Given the description of an element on the screen output the (x, y) to click on. 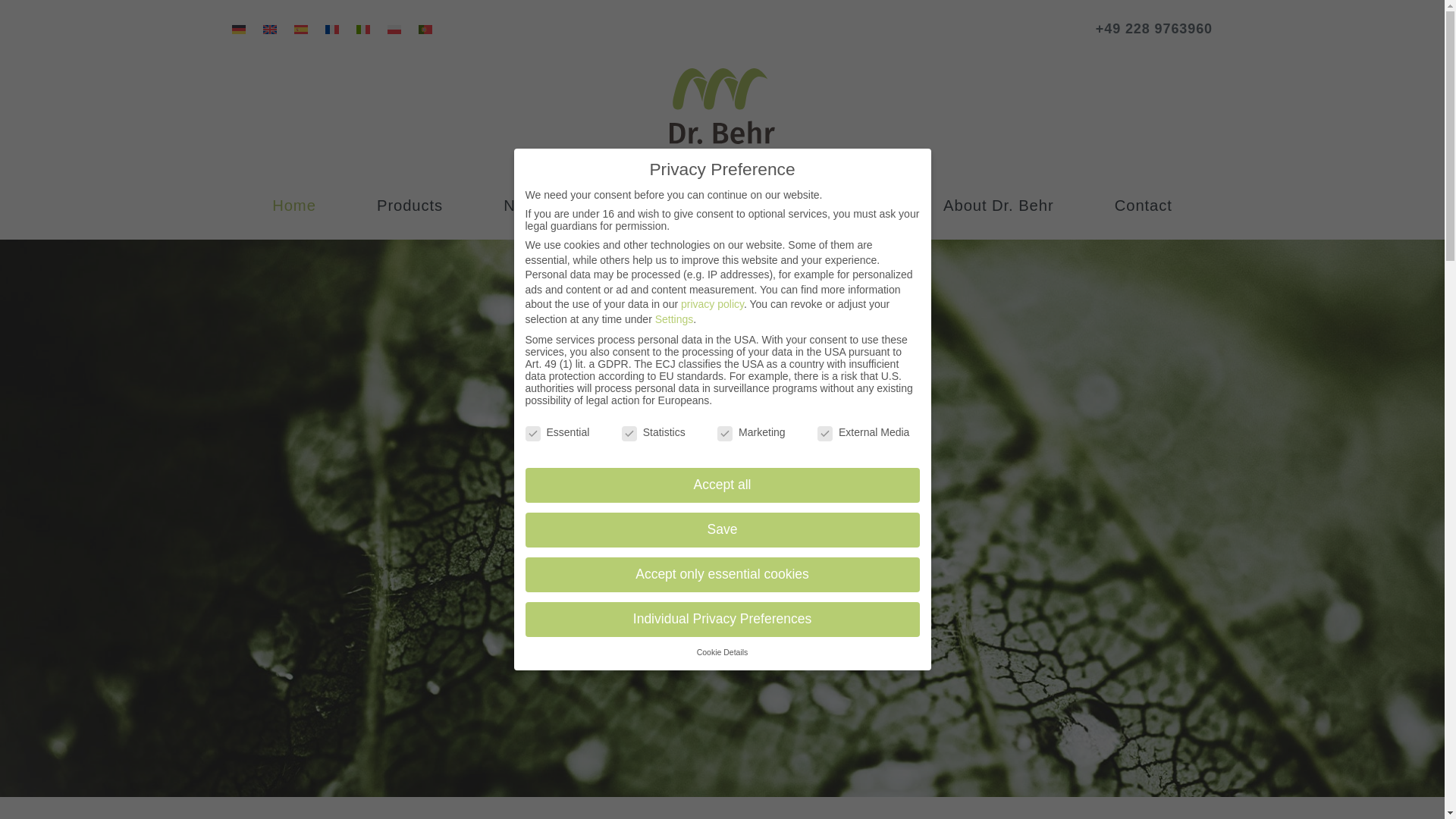
Contact (1143, 205)
Quality standards (671, 205)
Home (293, 205)
Quality standards (671, 205)
Products (409, 205)
News (523, 205)
Certificates (839, 205)
About Dr. Behr (997, 205)
News (523, 205)
Certificates (839, 205)
Products (409, 205)
Dr. Behr GmbH (721, 112)
Home (293, 205)
